Given the description of an element on the screen output the (x, y) to click on. 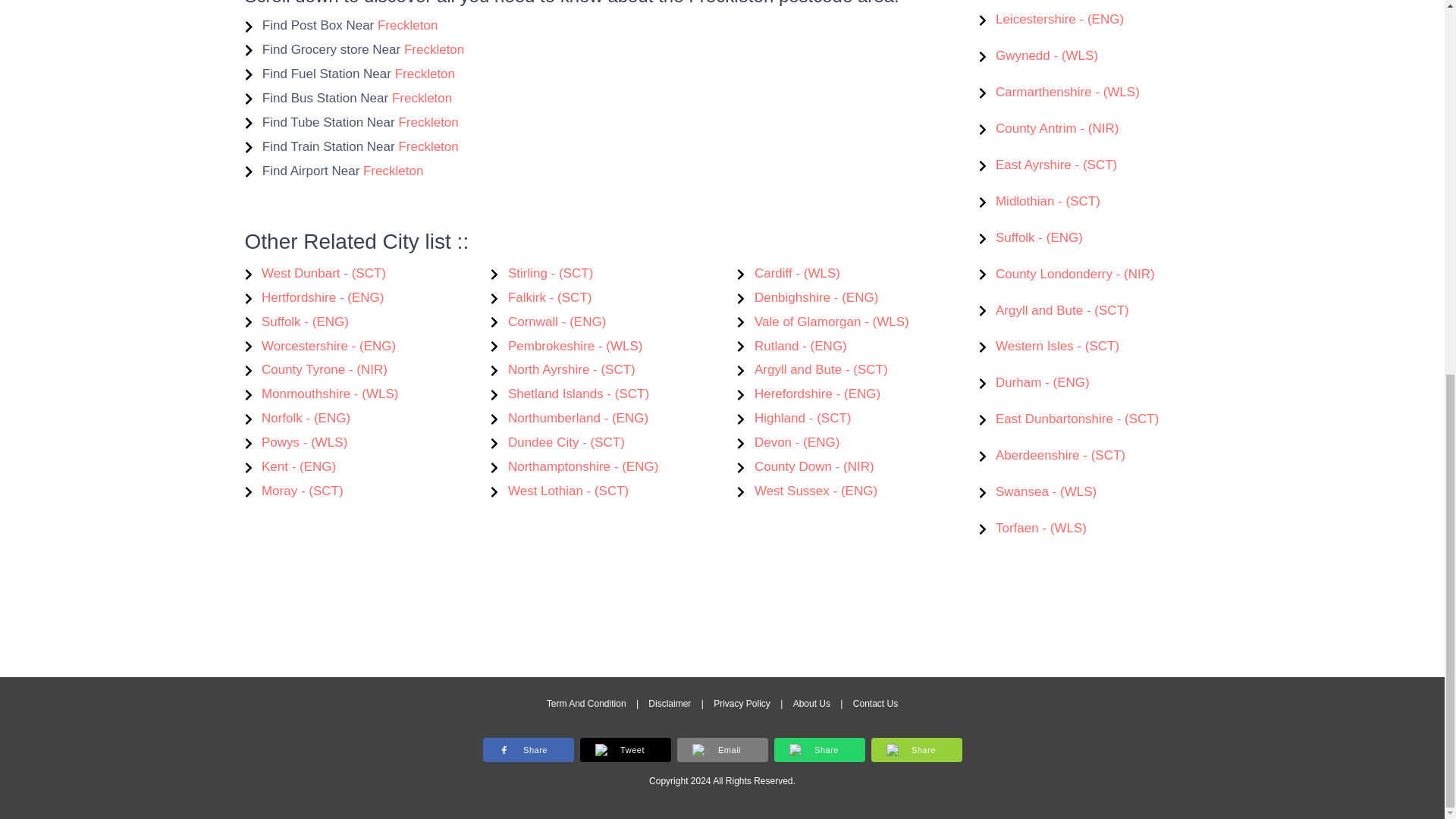
Freckleton (392, 170)
Freckleton (434, 49)
Freckleton (427, 122)
Freckleton (424, 73)
Freckleton (407, 25)
Freckleton (427, 146)
Freckleton (421, 97)
